Given the description of an element on the screen output the (x, y) to click on. 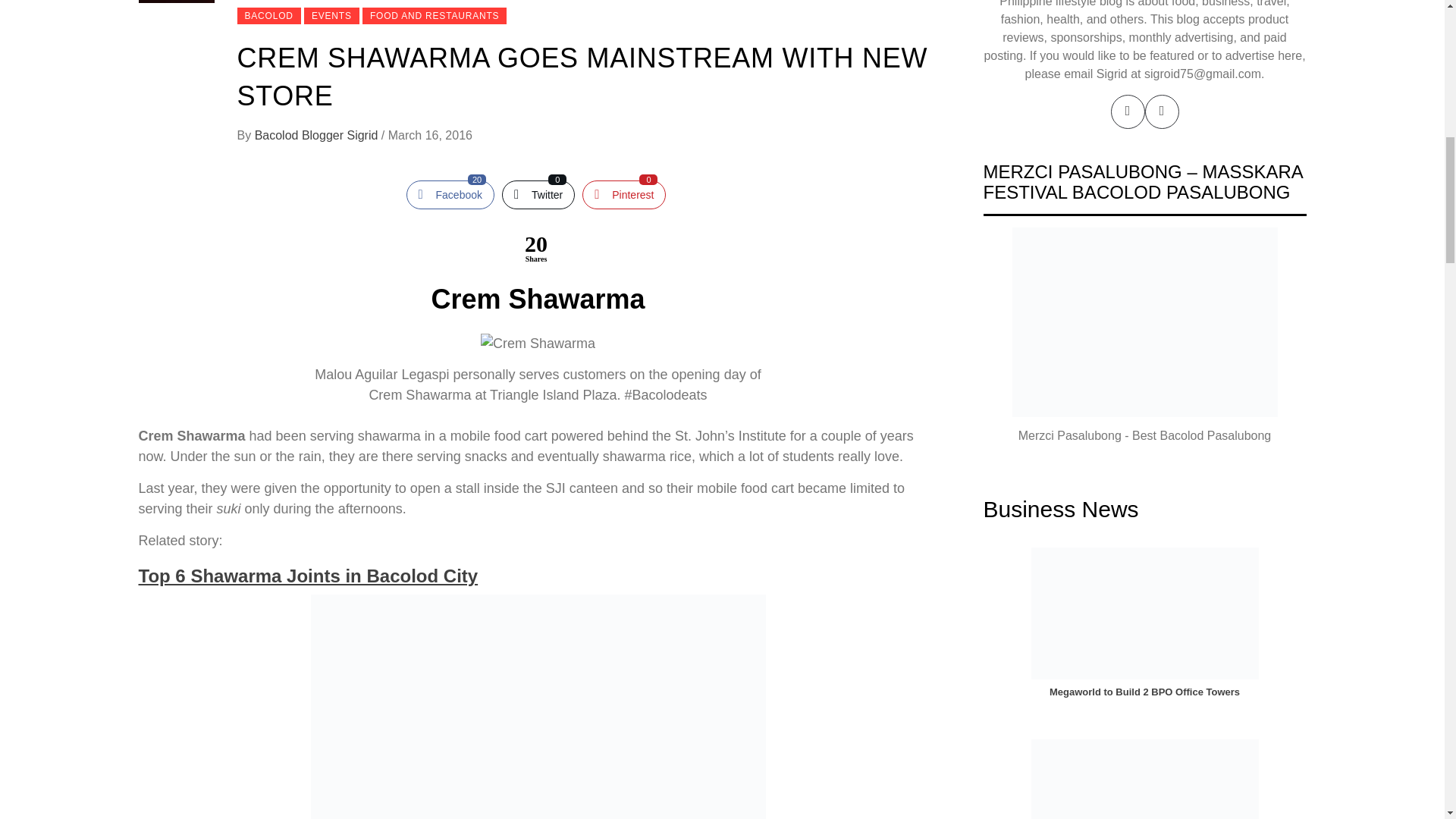
Top 6 Shawarma Joints in Bacolod City (450, 194)
FOOD AND RESTAURANTS (307, 575)
EVENTS (538, 194)
BACOLOD (434, 15)
Bacolod Blogger Sigrid (331, 15)
